Given the description of an element on the screen output the (x, y) to click on. 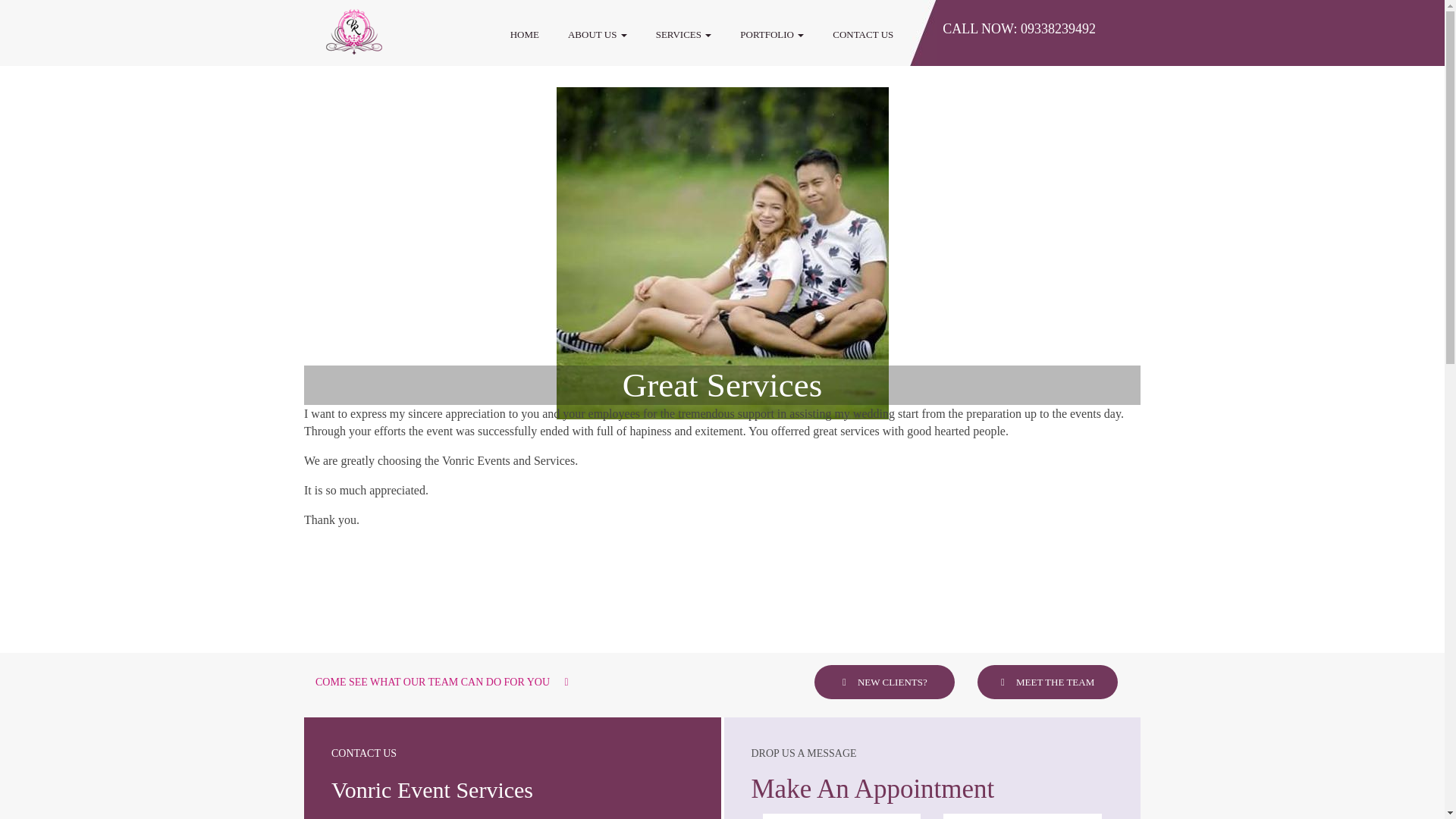
About Us (597, 34)
CALL NOW: 09338239492 (1019, 28)
Home (524, 34)
HOME (524, 34)
SERVICES (684, 34)
CONTACT US (862, 34)
ABOUT US (597, 34)
NEW CLIENTS? (884, 682)
Portfolio (771, 34)
Services (684, 34)
MEET THE TEAM (1047, 682)
PORTFOLIO (771, 34)
COME SEE WHAT OUR TEAM CAN DO FOR YOU (442, 682)
